Given the description of an element on the screen output the (x, y) to click on. 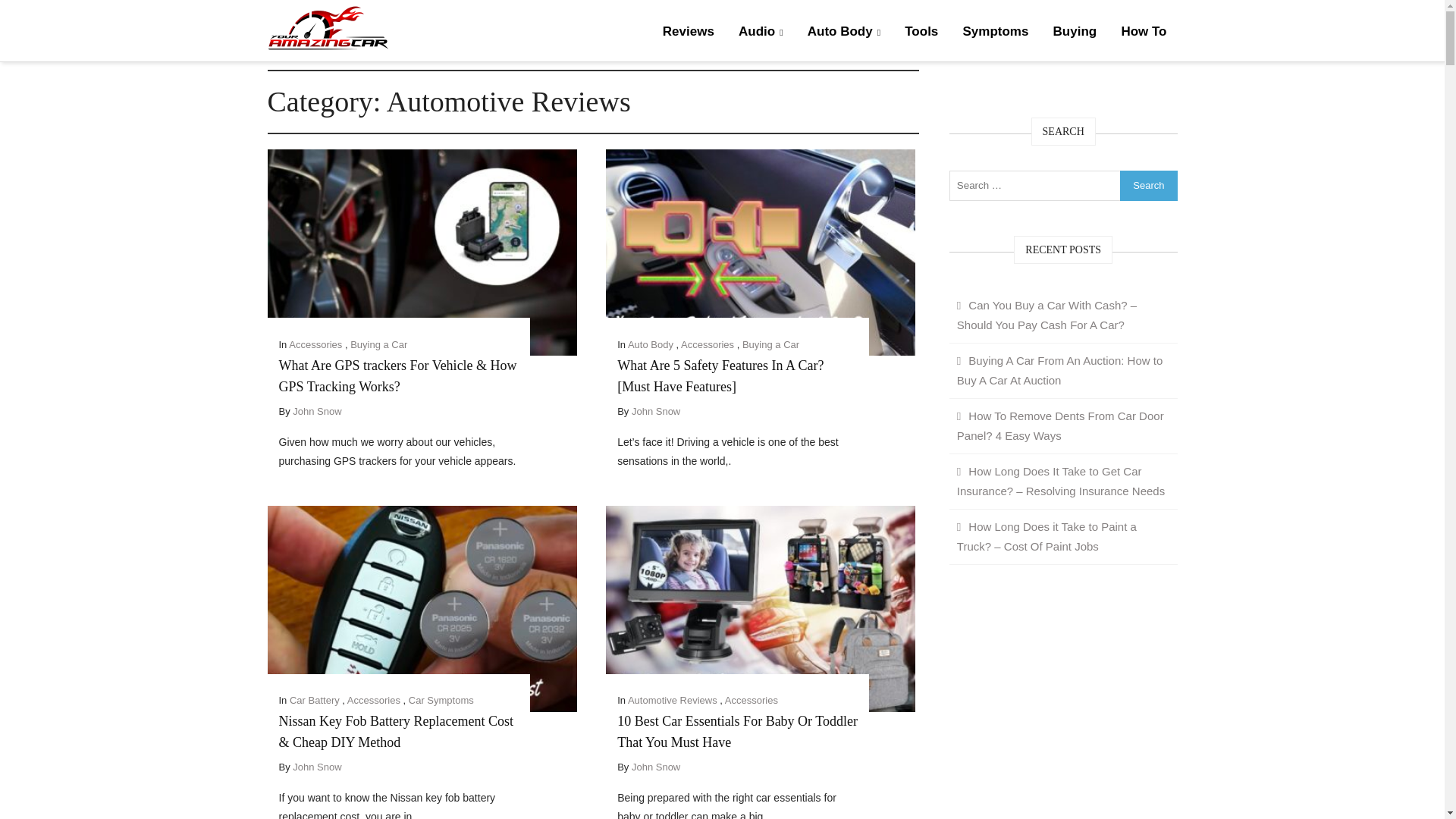
Buying a Car (378, 344)
Symptoms (995, 31)
Posts by John Snow (316, 767)
Search (1147, 184)
Buying (1075, 31)
Buying a Car (770, 344)
John Snow (316, 410)
Posts by John Snow (655, 410)
Posts by John Snow (316, 410)
Car Symptoms (441, 699)
Reviews (688, 31)
Auto Body (649, 344)
Tools (921, 31)
Posts by John Snow (655, 767)
Auto Body (843, 31)
